Given the description of an element on the screen output the (x, y) to click on. 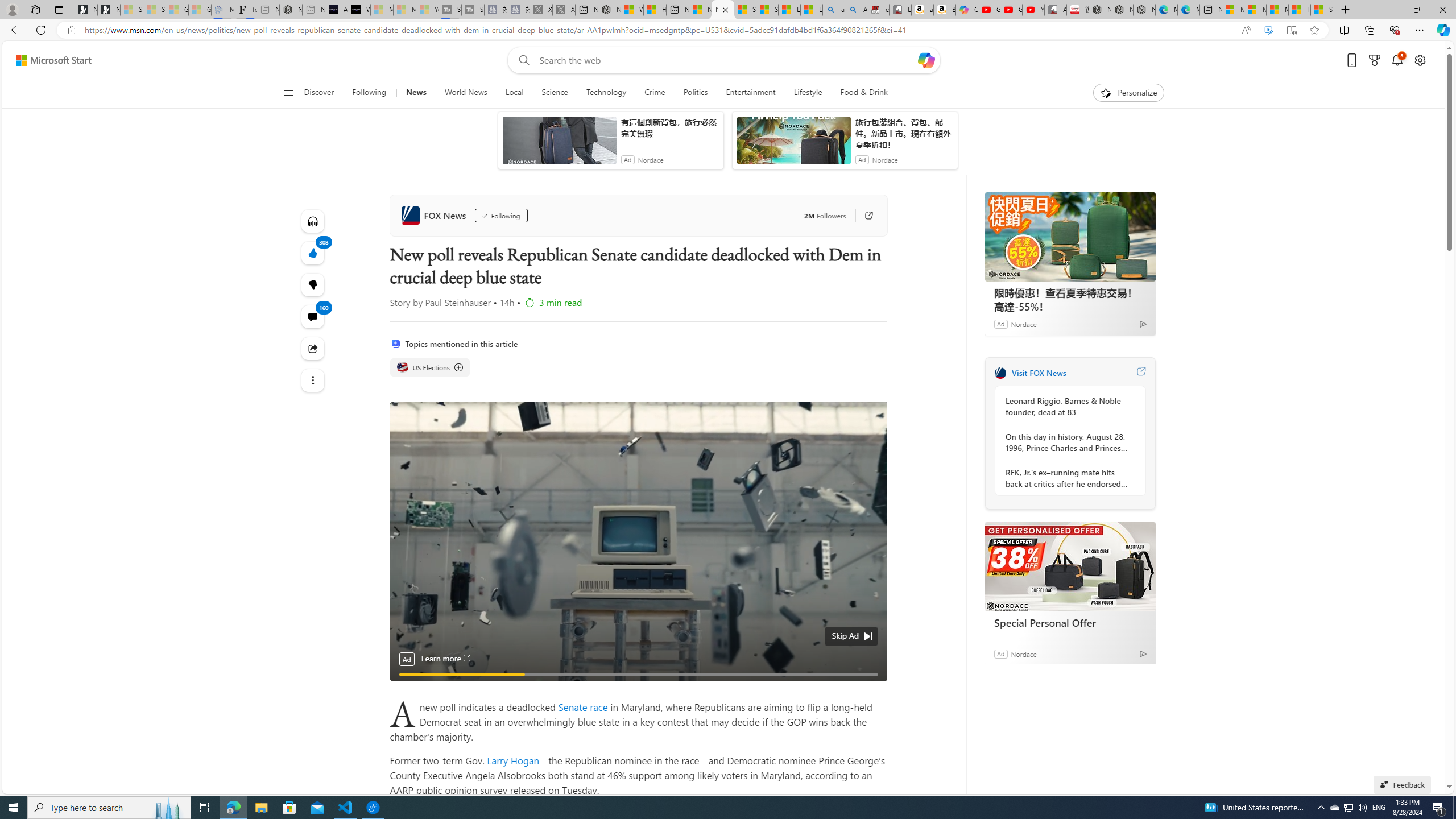
Crime (655, 92)
Lifestyle (807, 92)
FOX News (435, 215)
Enter your search term (726, 59)
AI Voice Changer for PC and Mac - Voice.ai (336, 9)
Class: button-glyph (287, 92)
amazon.in/dp/B0CX59H5W7/?tag=gsmcom05-21 (923, 9)
Skip to footer (46, 59)
YouTube Kids - An App Created for Kids to Explore Content (1033, 9)
